Given the description of an element on the screen output the (x, y) to click on. 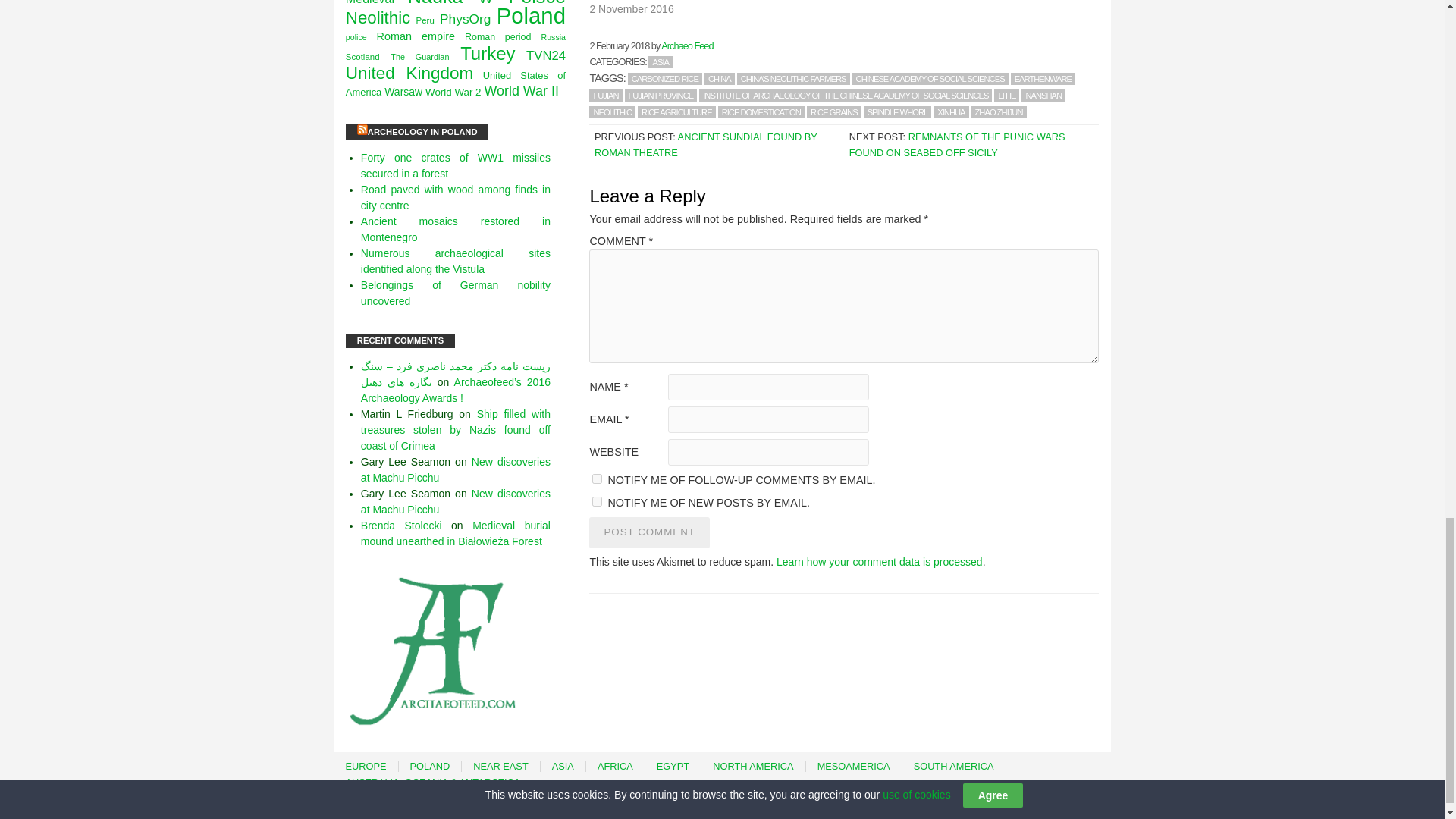
Friday, Feb 2, 2018, 1:00 am (619, 45)
ASIA (659, 61)
CARBONIZED RICE (664, 78)
CHINESE ACADEMY OF SOCIAL SCIENCES (930, 78)
EARTHENWARE (1042, 78)
CHINA (719, 78)
Posts by Archaeo Feed (687, 45)
FUJIAN (605, 95)
subscribe (597, 479)
subscribe (597, 501)
